Given the description of an element on the screen output the (x, y) to click on. 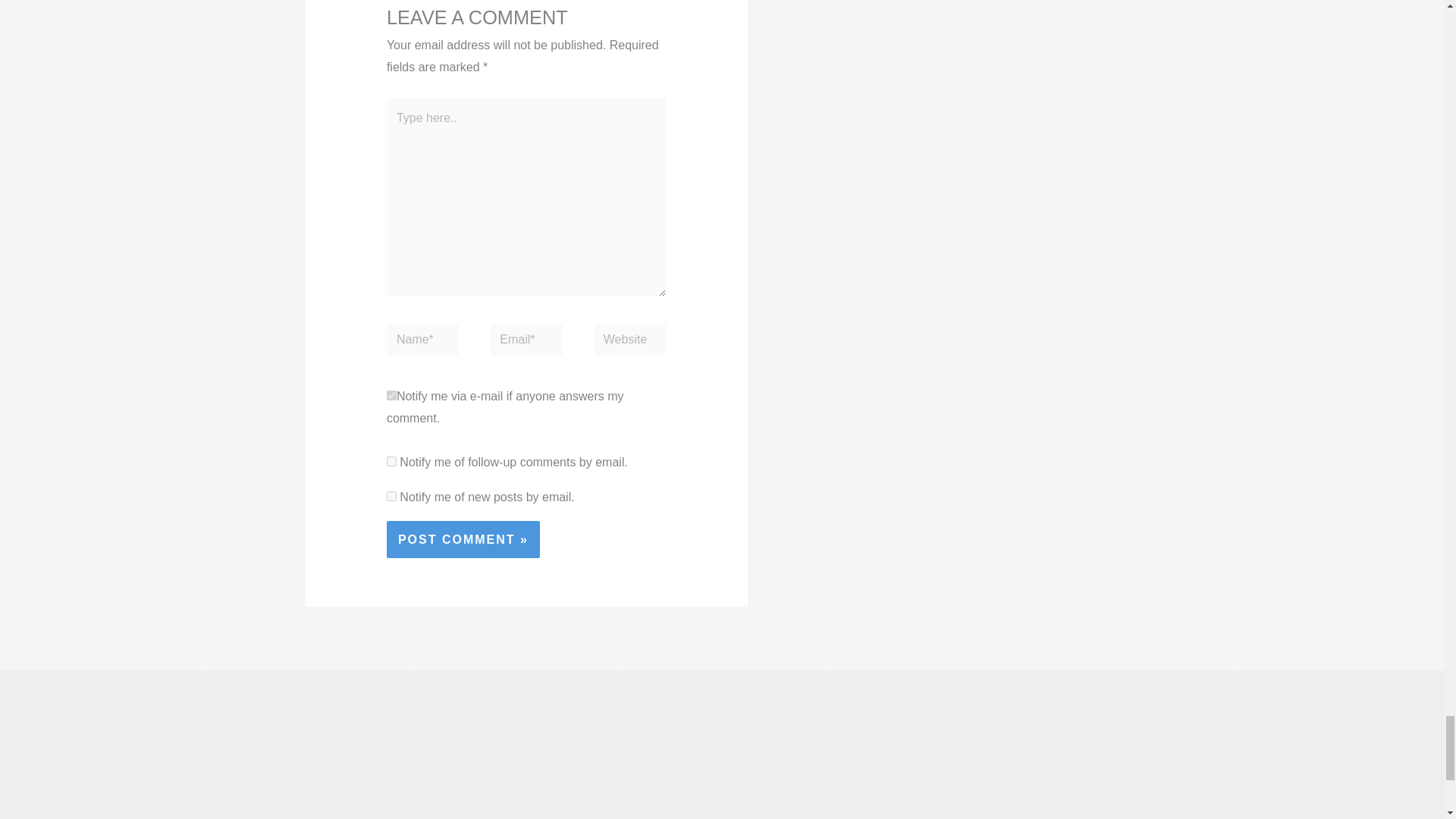
on (391, 395)
subscribe (391, 461)
subscribe (391, 496)
